Given the description of an element on the screen output the (x, y) to click on. 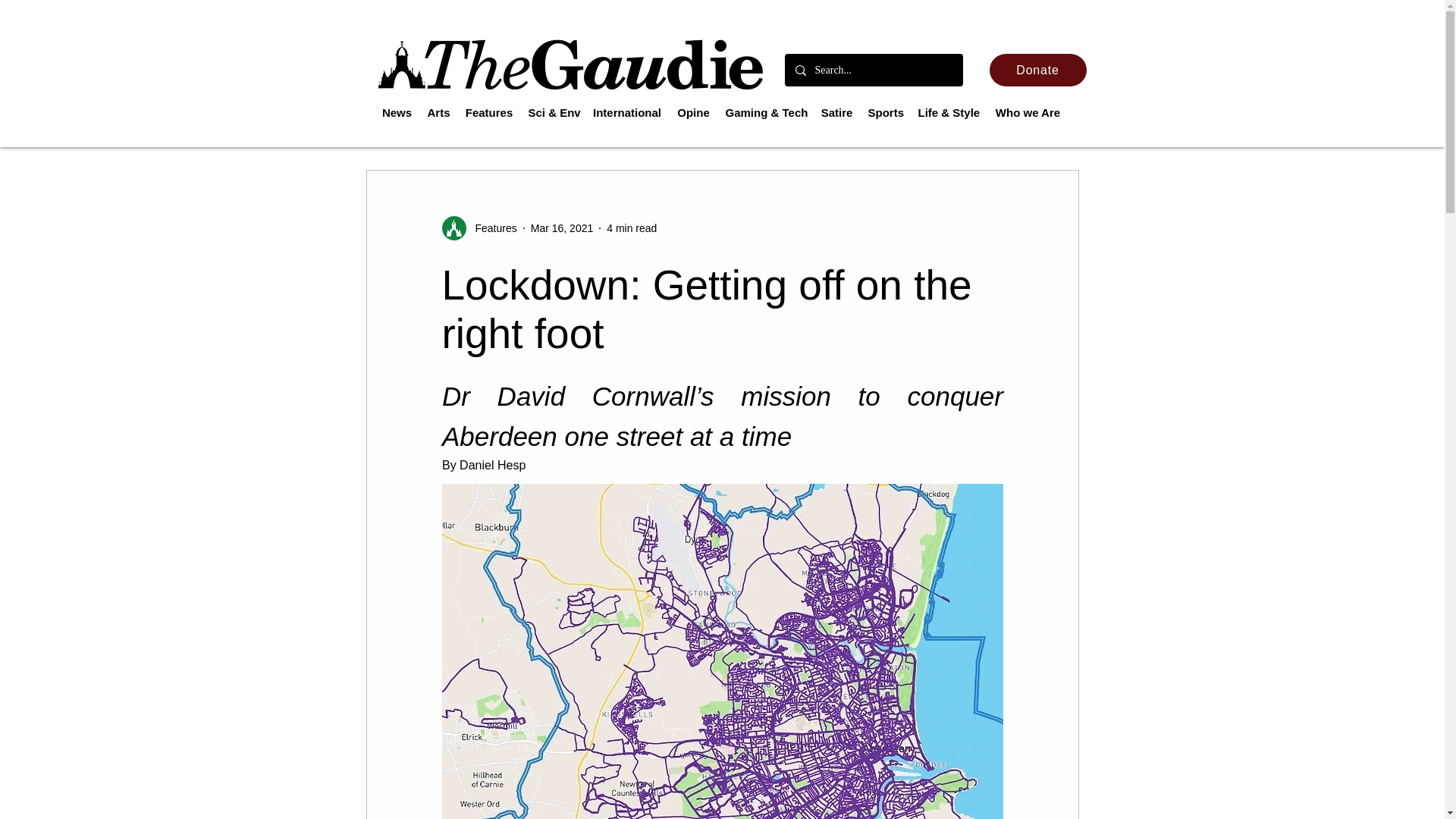
4 min read (631, 227)
Satire (836, 112)
MASTHEAD inc library texture add solid c (517, 54)
Arts (439, 112)
News (397, 112)
Features (490, 227)
International (627, 112)
Who we Are (1027, 112)
Opine (692, 112)
Sports (885, 112)
